Given the description of an element on the screen output the (x, y) to click on. 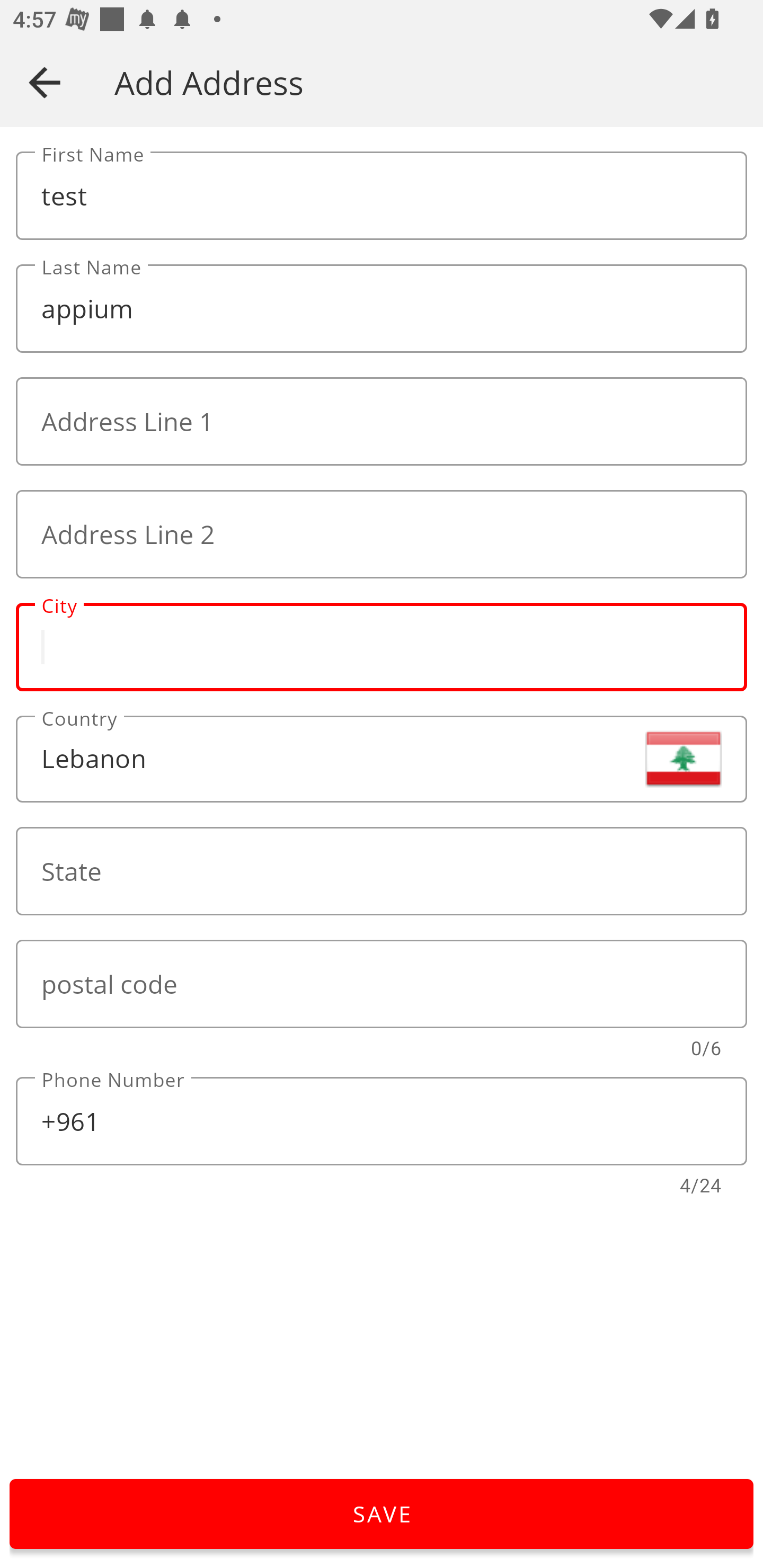
Navigate up (44, 82)
test (381, 195)
appium (381, 308)
Address Line 1 (381, 421)
Address Line 2 (381, 533)
City (381, 646)
Lebanon (381, 758)
State (381, 870)
postal code (381, 983)
+961 (381, 1121)
SAVE (381, 1513)
